Given the description of an element on the screen output the (x, y) to click on. 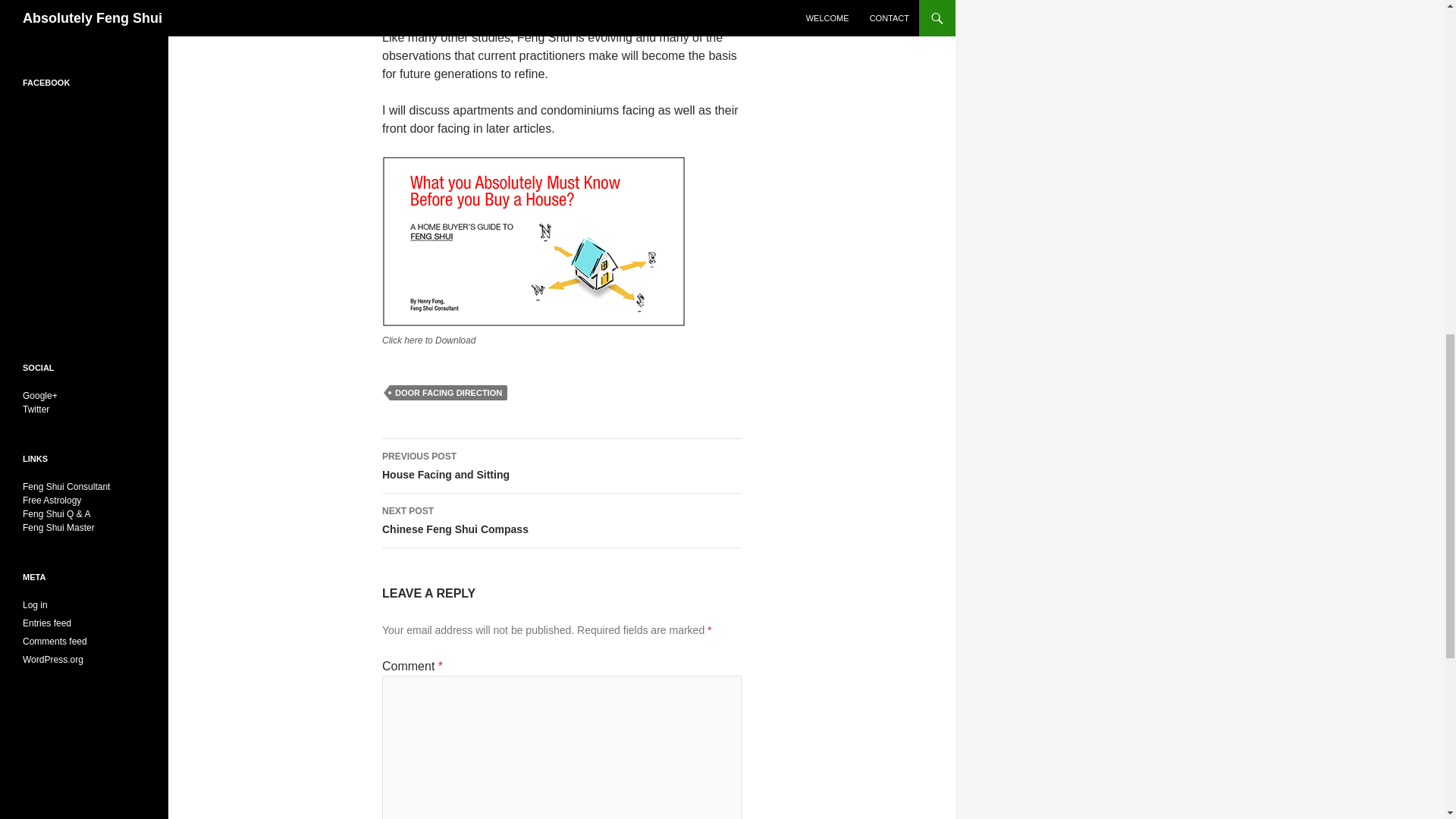
DOOR FACING DIRECTION (448, 392)
